Given the description of an element on the screen output the (x, y) to click on. 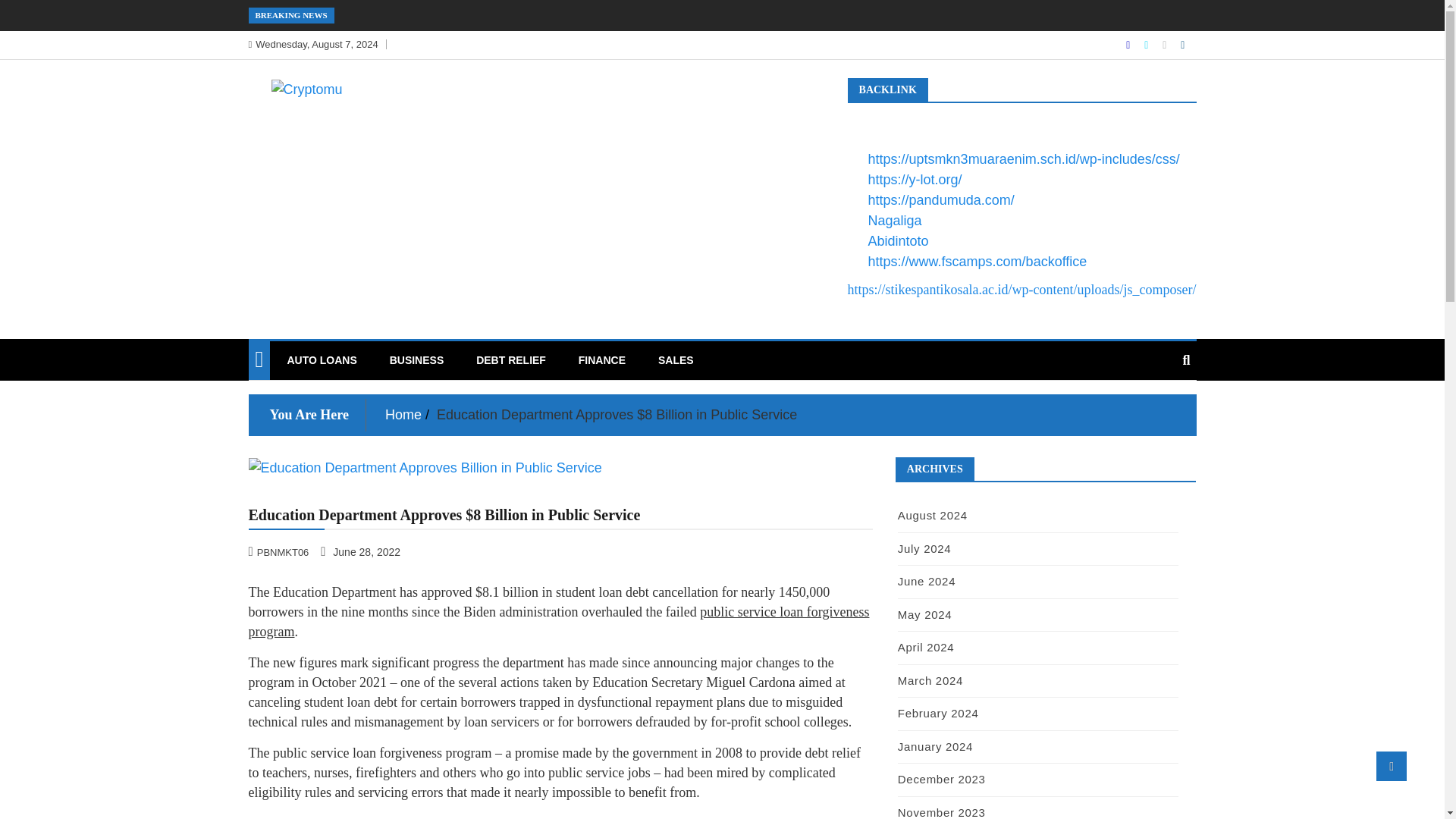
Education Department Approves  Billion in Public Service (560, 467)
Abidintoto (897, 240)
AUTO LOANS (321, 360)
BUSINESS (416, 360)
Home (403, 414)
June 28, 2022 (361, 551)
Cryptomu (308, 120)
FINANCE (602, 360)
SALES (675, 360)
DEBT RELIEF (510, 360)
